Given the description of an element on the screen output the (x, y) to click on. 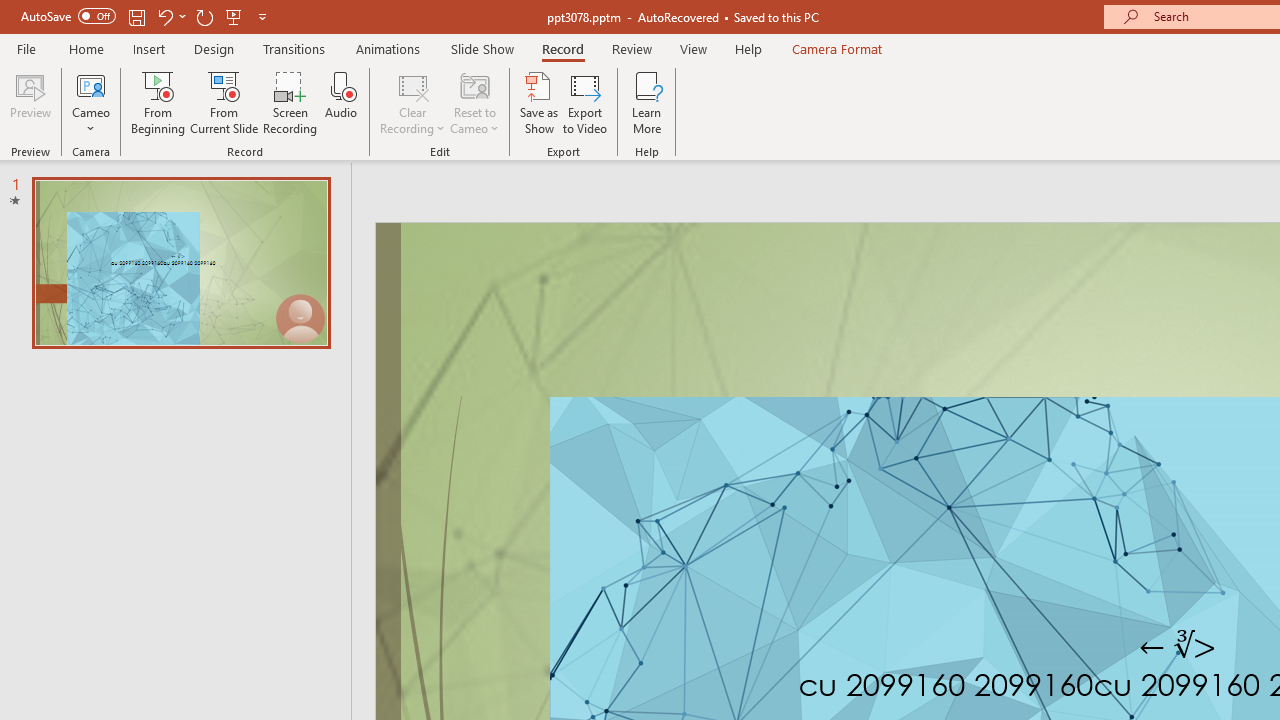
Camera Format (836, 48)
